Given the description of an element on the screen output the (x, y) to click on. 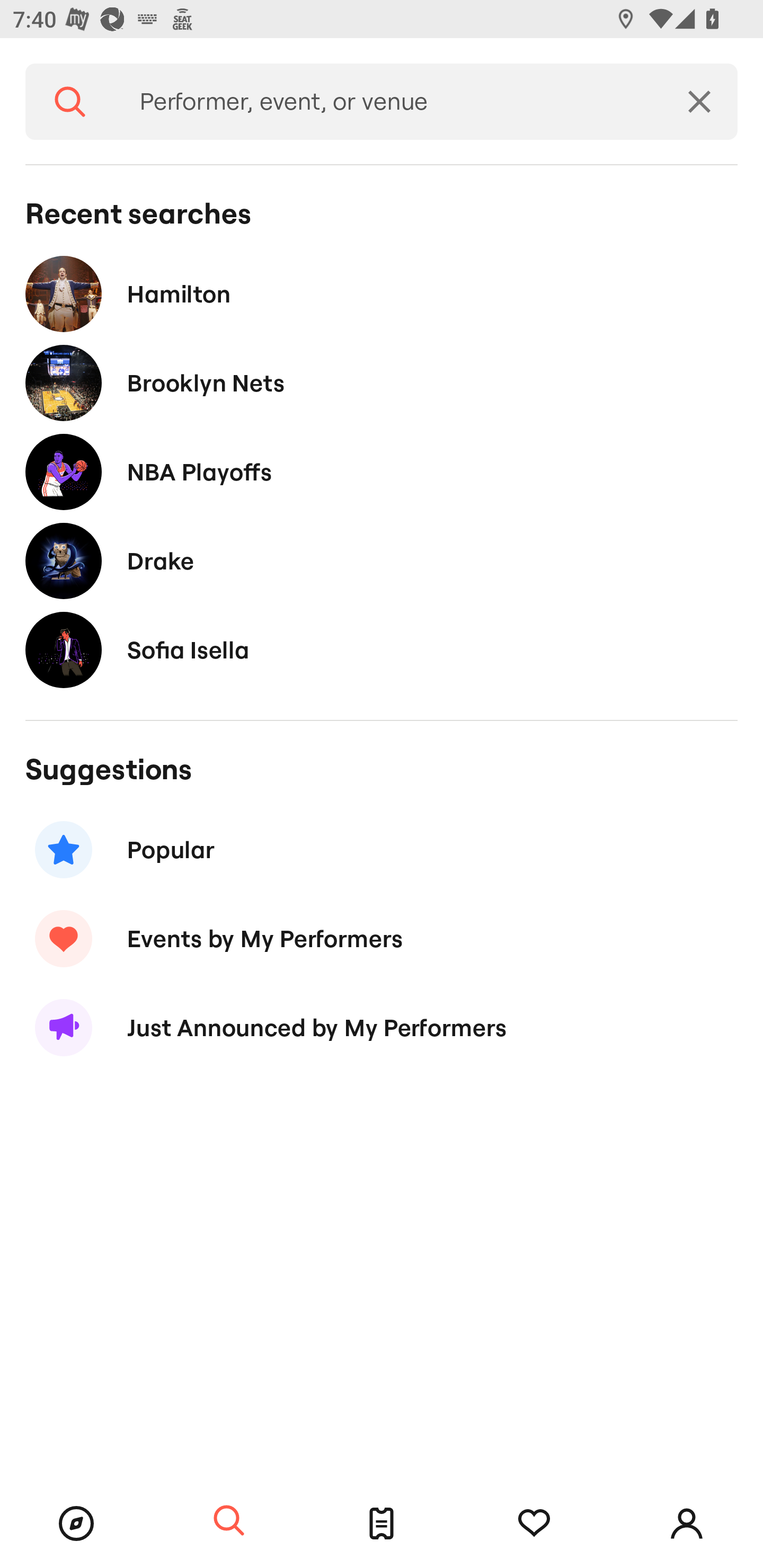
Search (69, 101)
Performer, event, or venue (387, 101)
Clear (699, 101)
Hamilton (381, 293)
Brooklyn Nets (381, 383)
NBA Playoffs (381, 471)
Drake (381, 560)
Sofia Isella (381, 649)
Popular (381, 849)
Events by My Performers (381, 938)
Just Announced by My Performers (381, 1027)
Browse (76, 1523)
Search (228, 1521)
Tickets (381, 1523)
Tracking (533, 1523)
Account (686, 1523)
